Given the description of an element on the screen output the (x, y) to click on. 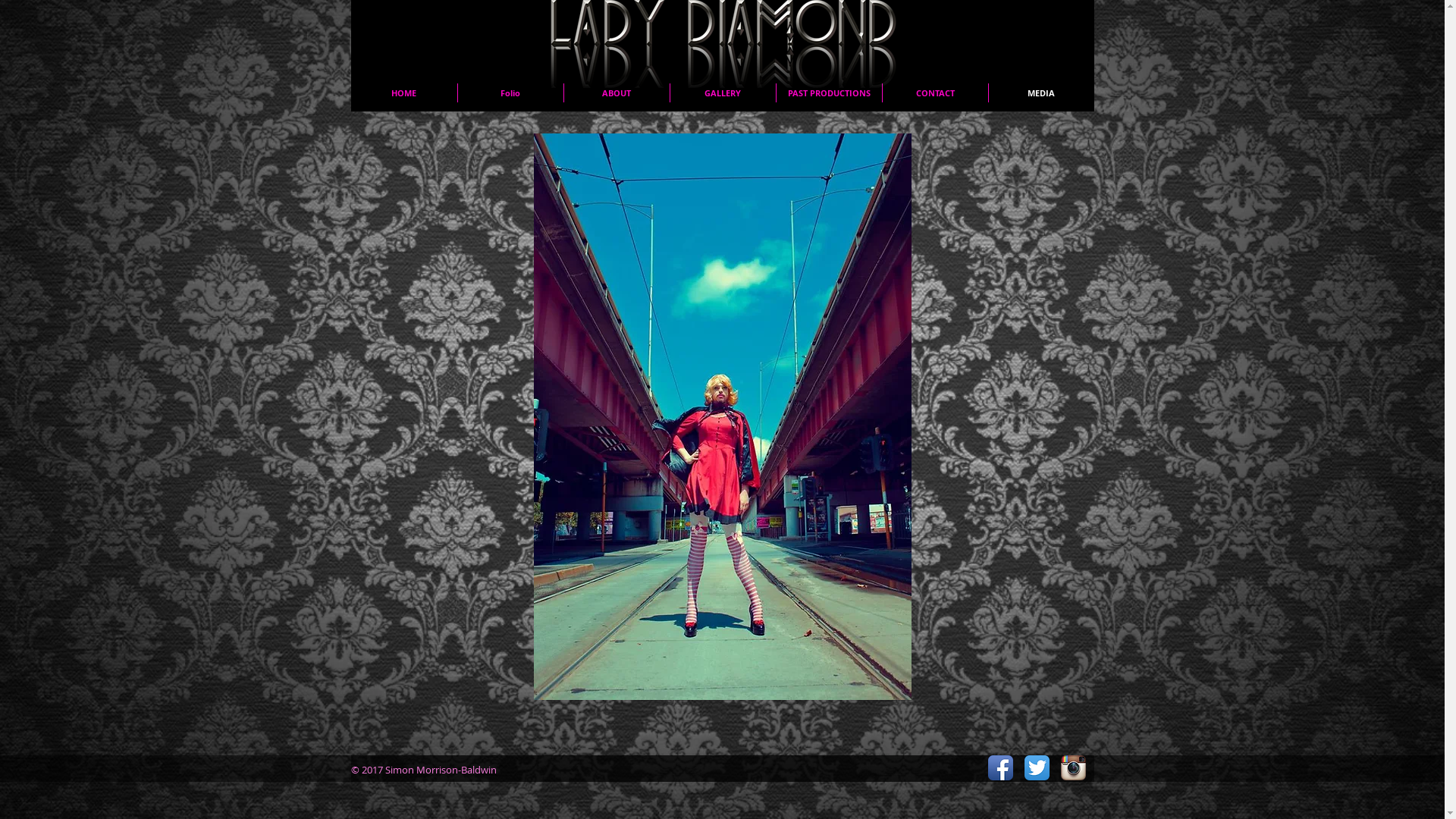
CONTACT Element type: text (935, 92)
PAST PRODUCTIONS Element type: text (828, 92)
HOME Element type: text (403, 92)
GALLERY Element type: text (722, 92)
ABOUT Element type: text (616, 92)
MEDIA Element type: text (1041, 92)
Folio Element type: text (510, 92)
